Given the description of an element on the screen output the (x, y) to click on. 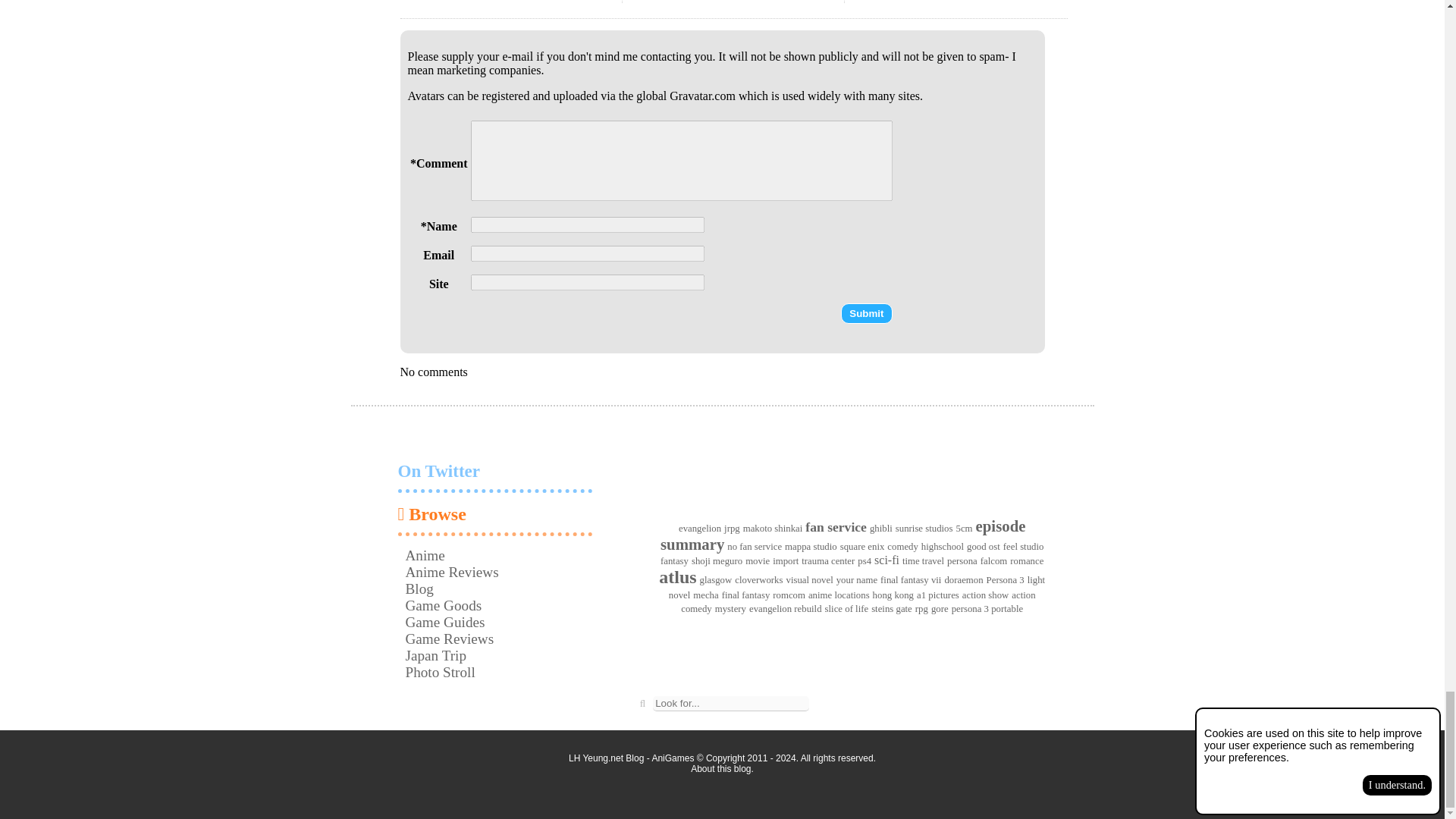
makoto shinkai (772, 528)
Japan Trip (434, 655)
Submit (866, 313)
Game Reviews (448, 638)
Blog (418, 588)
Game Guides (444, 621)
jrpg (731, 528)
Submit (866, 313)
On Twitter (494, 485)
evangelion (699, 528)
